Given the description of an element on the screen output the (x, y) to click on. 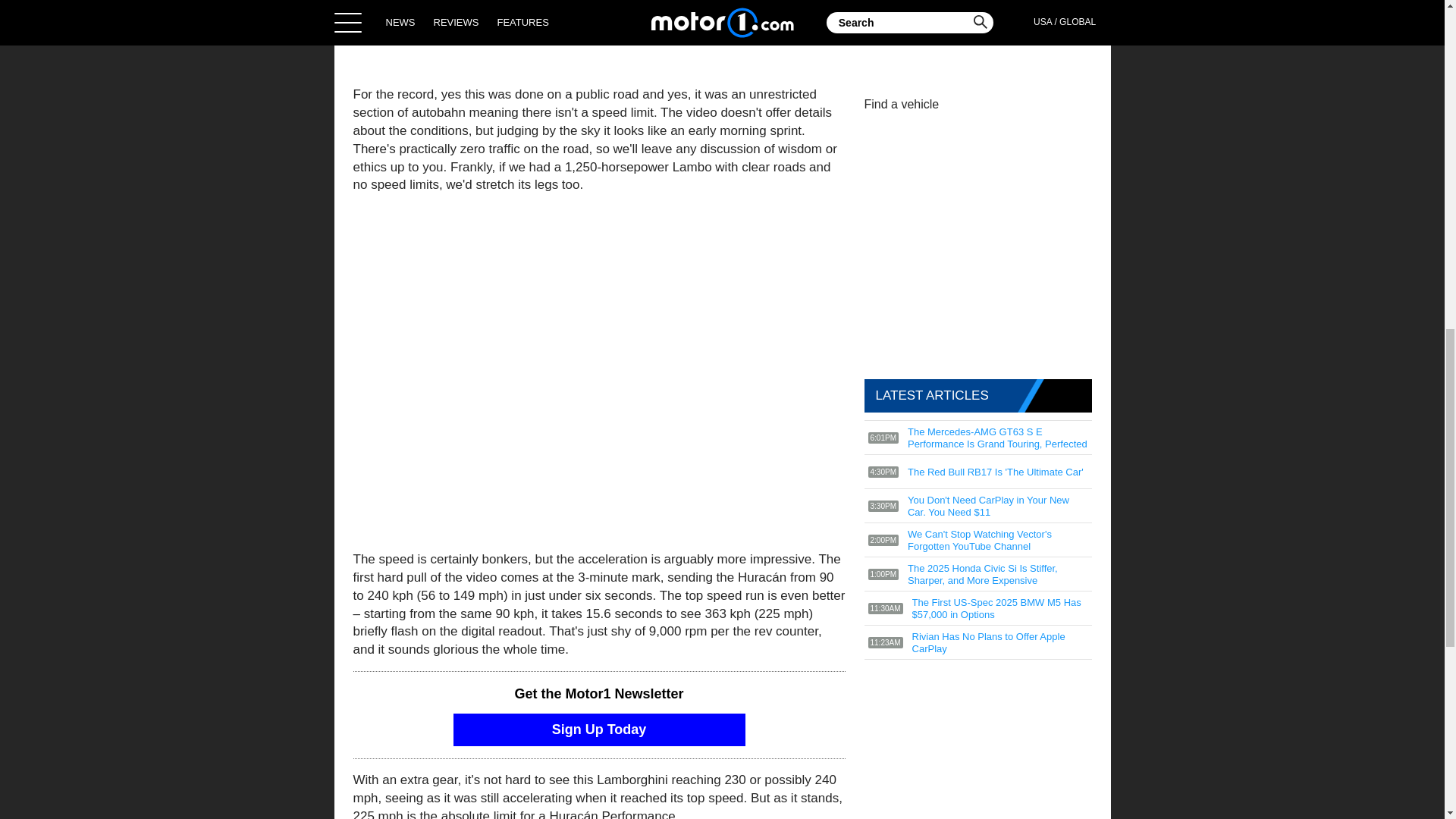
Sign Up Today (598, 729)
